Given the description of an element on the screen output the (x, y) to click on. 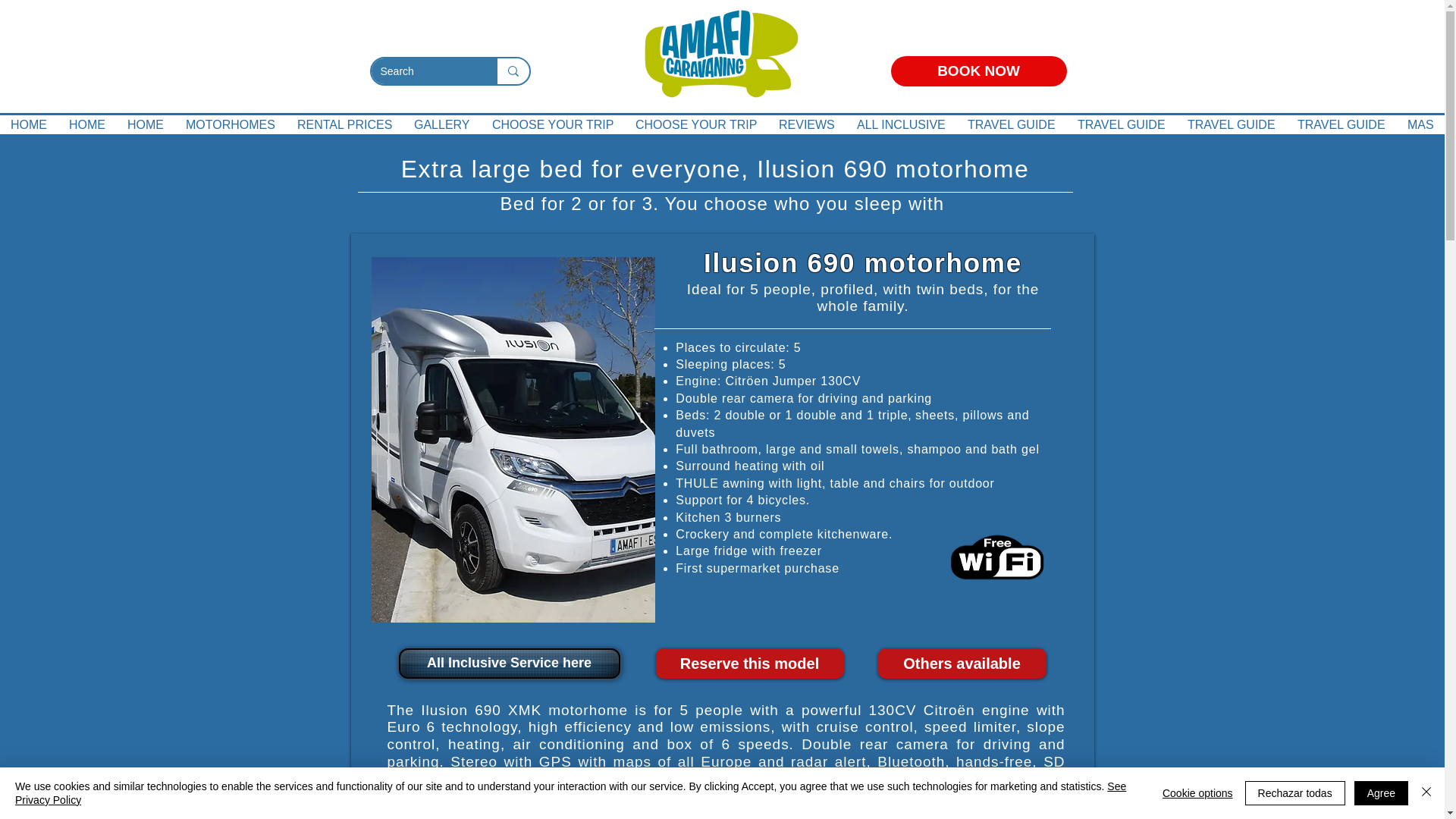
BOOK NOW (977, 71)
HOME (87, 124)
CHOOSE YOUR TRIP (696, 124)
Others available (961, 663)
HOME (145, 124)
TRAVEL GUIDE (1231, 124)
MOTORHOMES (230, 124)
ALL INCLUSIVE (900, 124)
CHOOSE YOUR TRIP (552, 124)
GALLERY (442, 124)
